Given the description of an element on the screen output the (x, y) to click on. 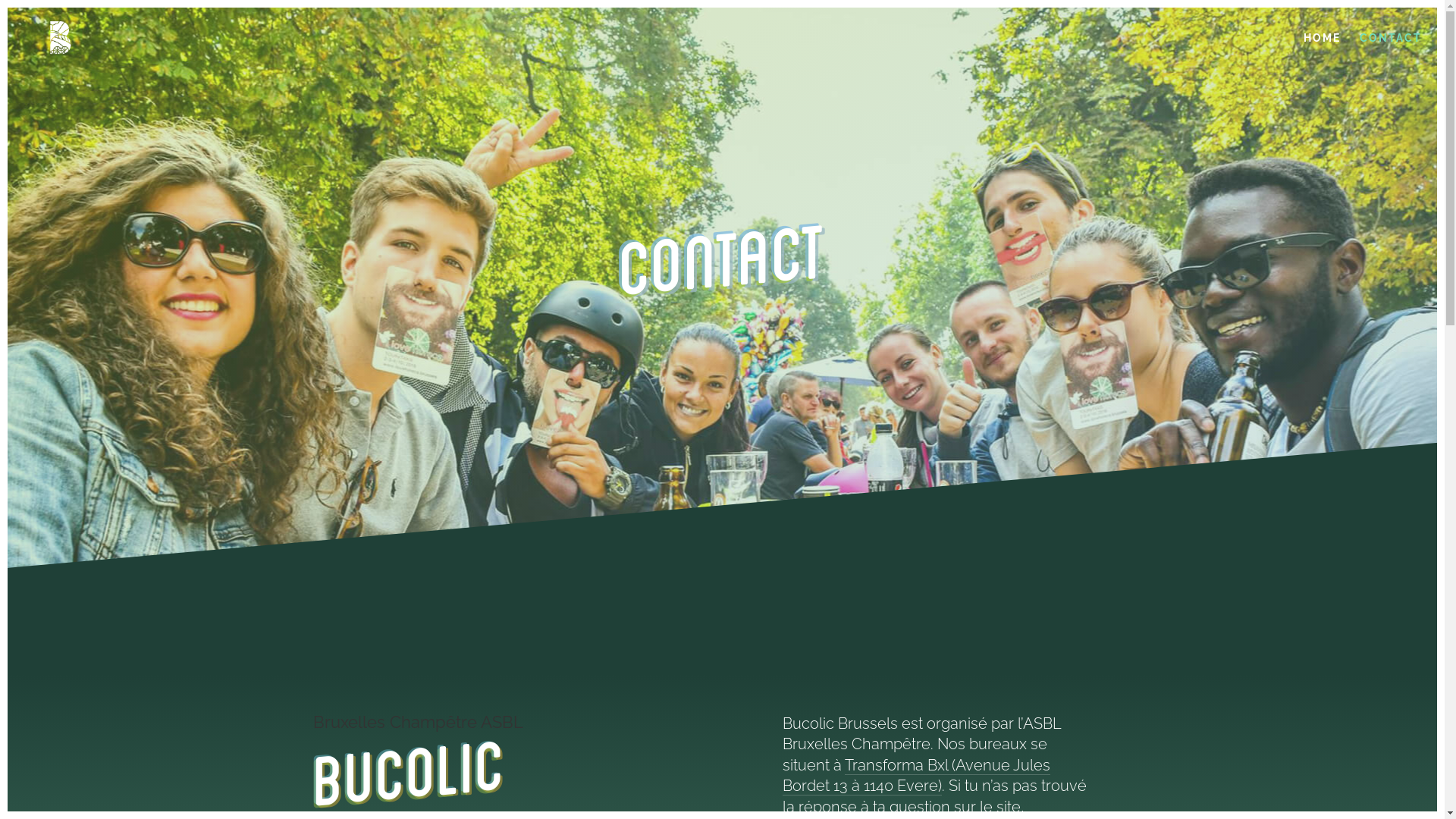
HOME Element type: text (1321, 50)
CONTACT Element type: text (1390, 50)
Envoyer Element type: text (37, 28)
